Given the description of an element on the screen output the (x, y) to click on. 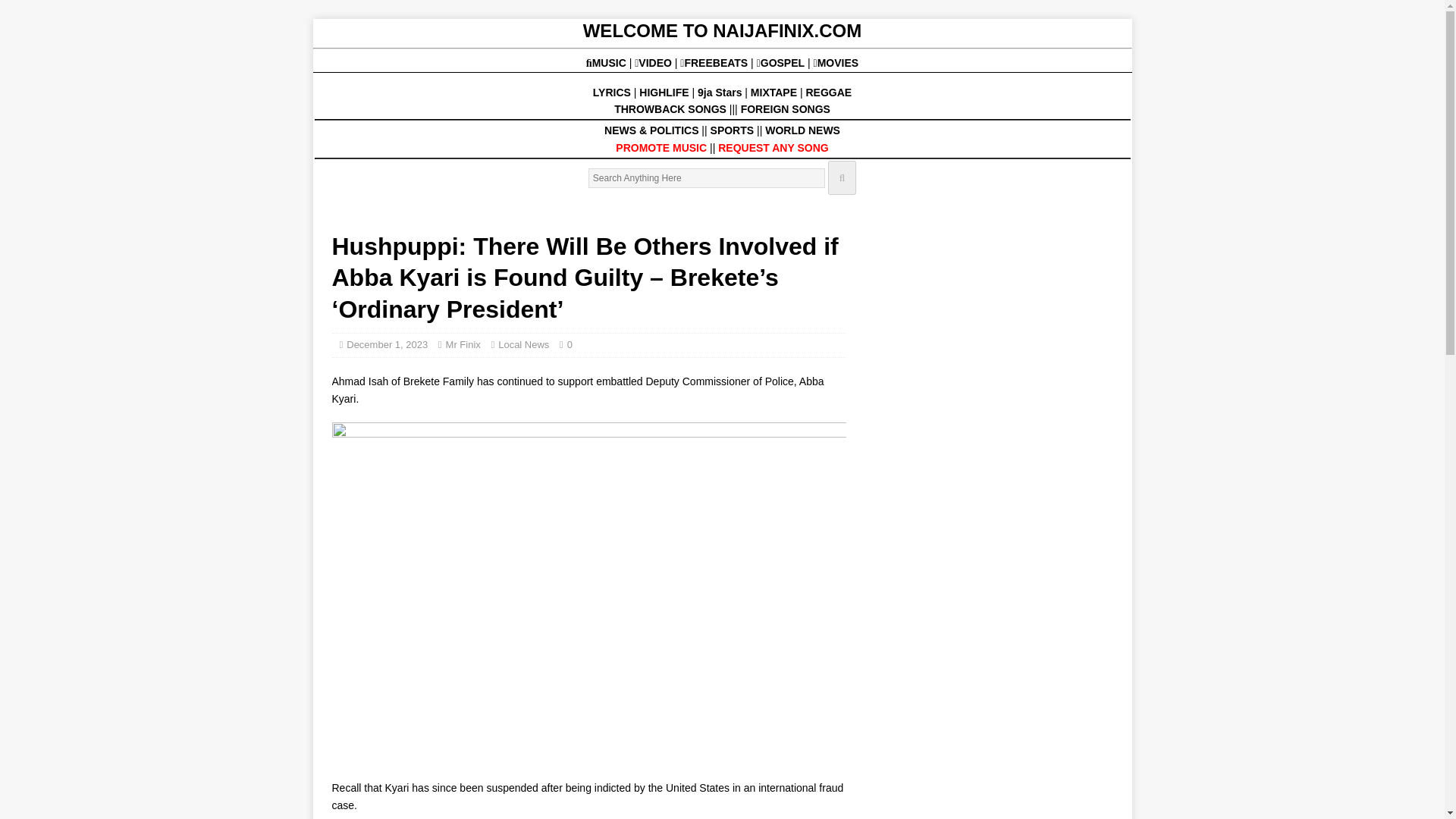
WORLD NEWS (802, 130)
HIGHLIFE (665, 92)
9ja Stars (719, 92)
MUSIC (607, 62)
December 1, 2023 (387, 344)
MOVIES (836, 62)
PROMOTE MUSIC (660, 147)
LYRICS (611, 92)
GOSPEL (782, 62)
WELCOME TO NAIJAFINIX.COM (722, 30)
MIXTAPE (773, 92)
SPORTS (732, 130)
Local News (522, 344)
FREEBEATS (715, 62)
REQUEST ANY SONG (772, 147)
